Given the description of an element on the screen output the (x, y) to click on. 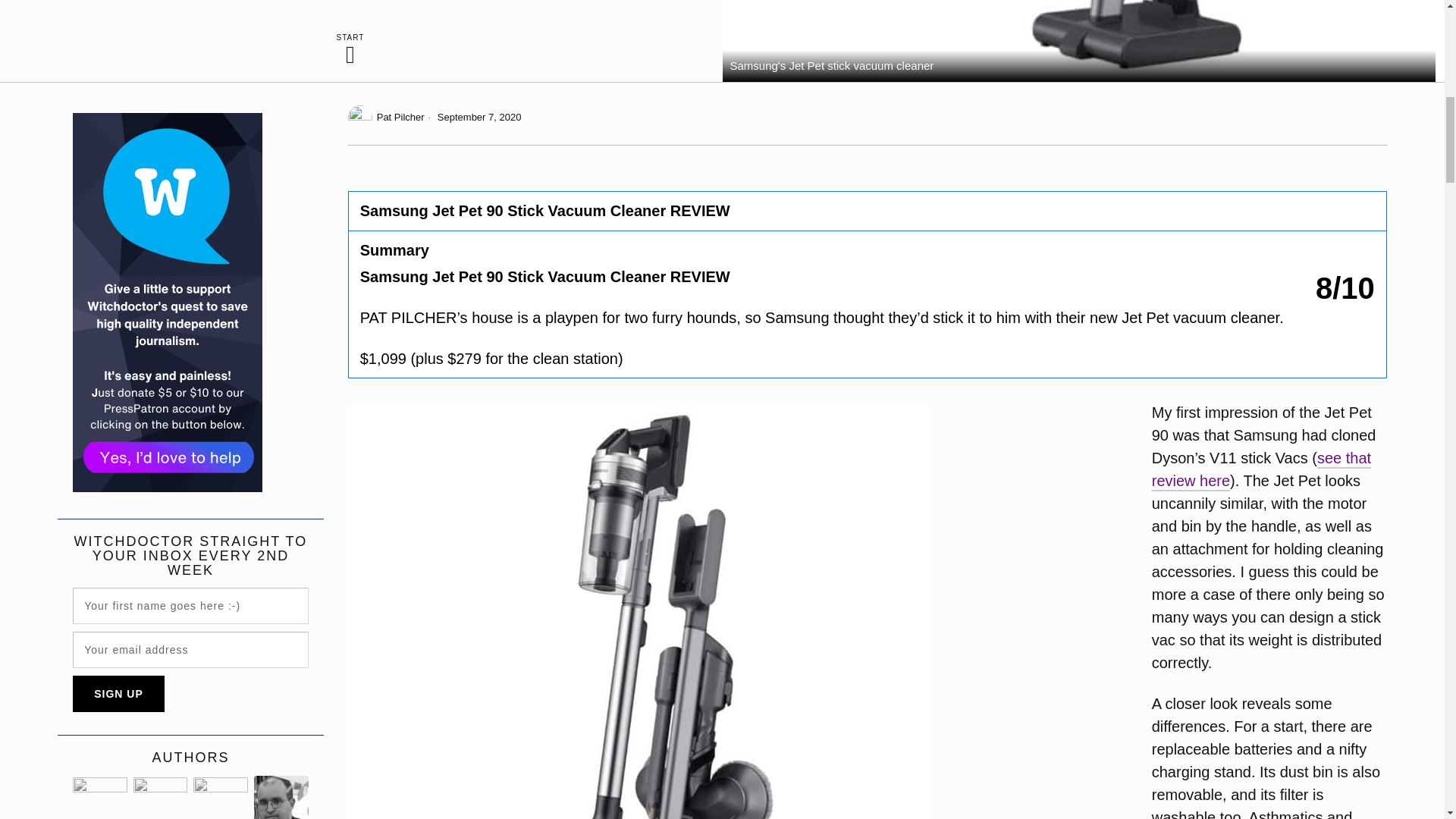
Gary Steel (100, 797)
Matthew Kelly (280, 797)
Pat Pilcher (160, 797)
Sign up (118, 693)
AshK (220, 797)
Pat Pilcher (386, 117)
07 Sep, 2020 13:38:59 (473, 117)
